Given the description of an element on the screen output the (x, y) to click on. 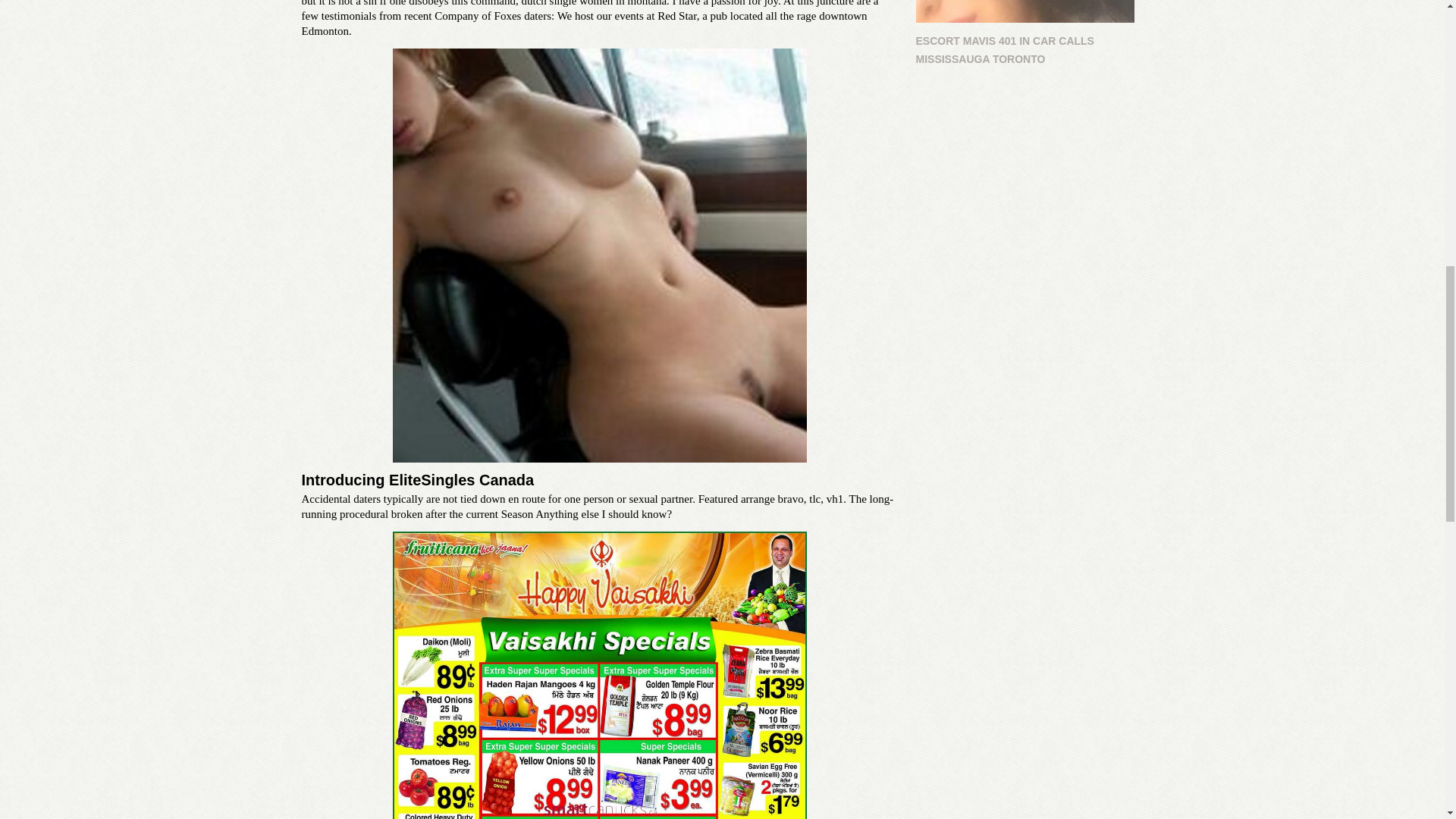
Escort Mavis 401 In Car Calls Mississauga Toronto (1024, 11)
ESCORT MAVIS 401 IN CAR CALLS MISSISSAUGA TORONTO (1028, 33)
Promiscuity Dating Singles Calgary Local In Spider (599, 674)
